Given the description of an element on the screen output the (x, y) to click on. 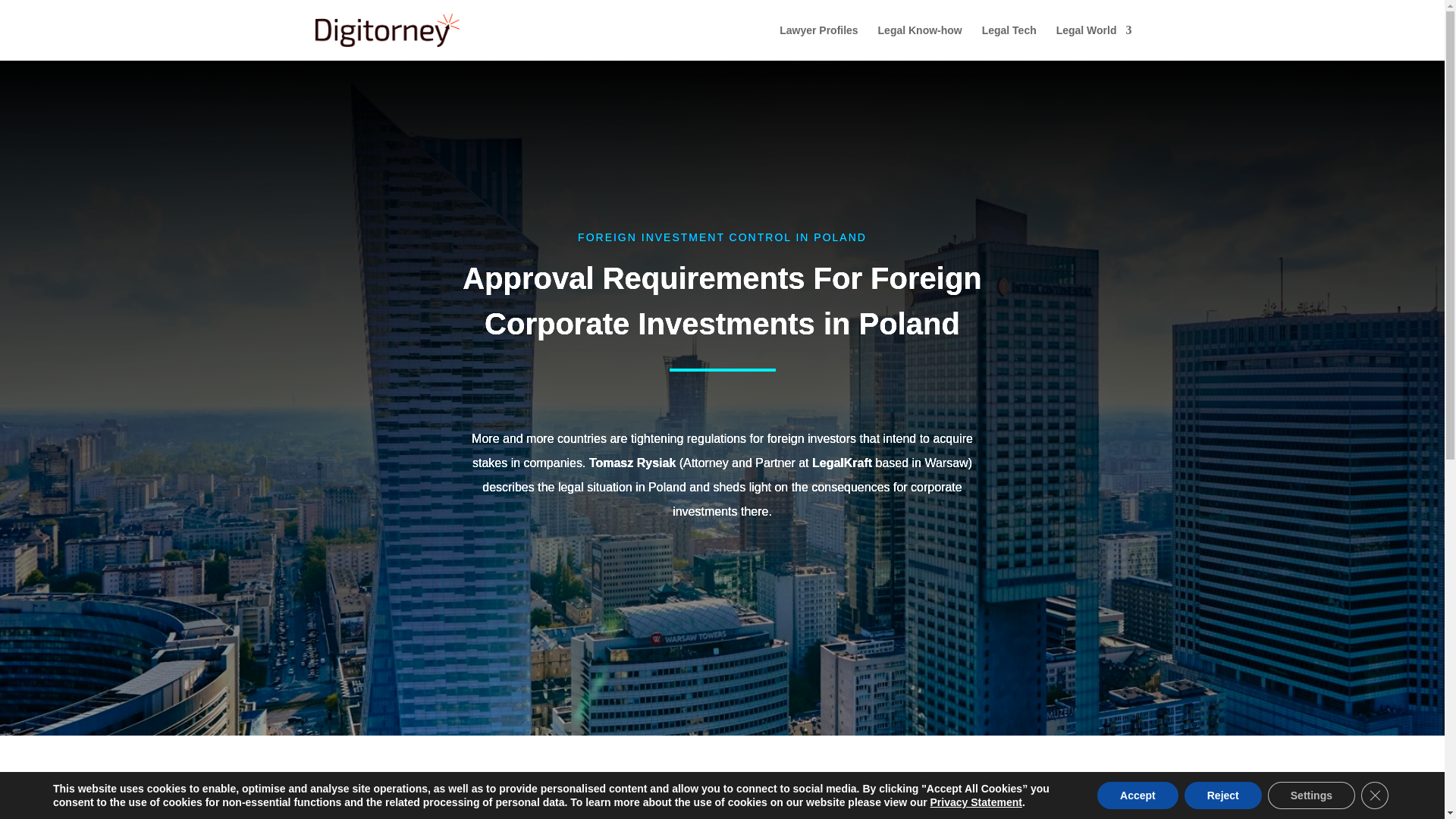
Legal Know-how (919, 42)
Close GDPR Cookie Banner (1375, 795)
Legal Tech (1008, 42)
Lawyer Profiles (818, 42)
Legal World (1094, 42)
Reject (1223, 795)
Privacy Statement (976, 802)
Accept (1137, 795)
Settings (1311, 795)
